Given the description of an element on the screen output the (x, y) to click on. 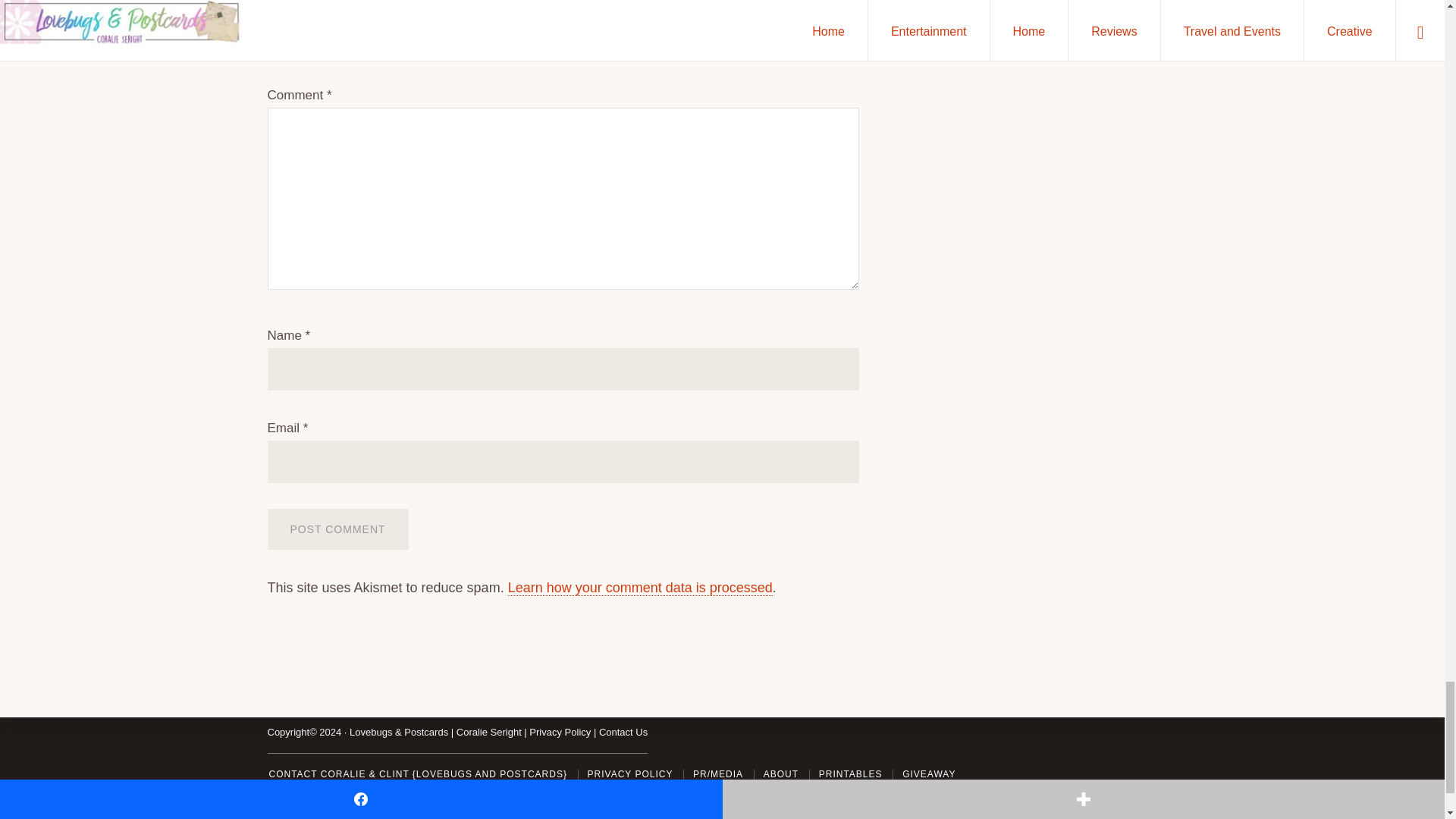
Post Comment (336, 528)
